Given the description of an element on the screen output the (x, y) to click on. 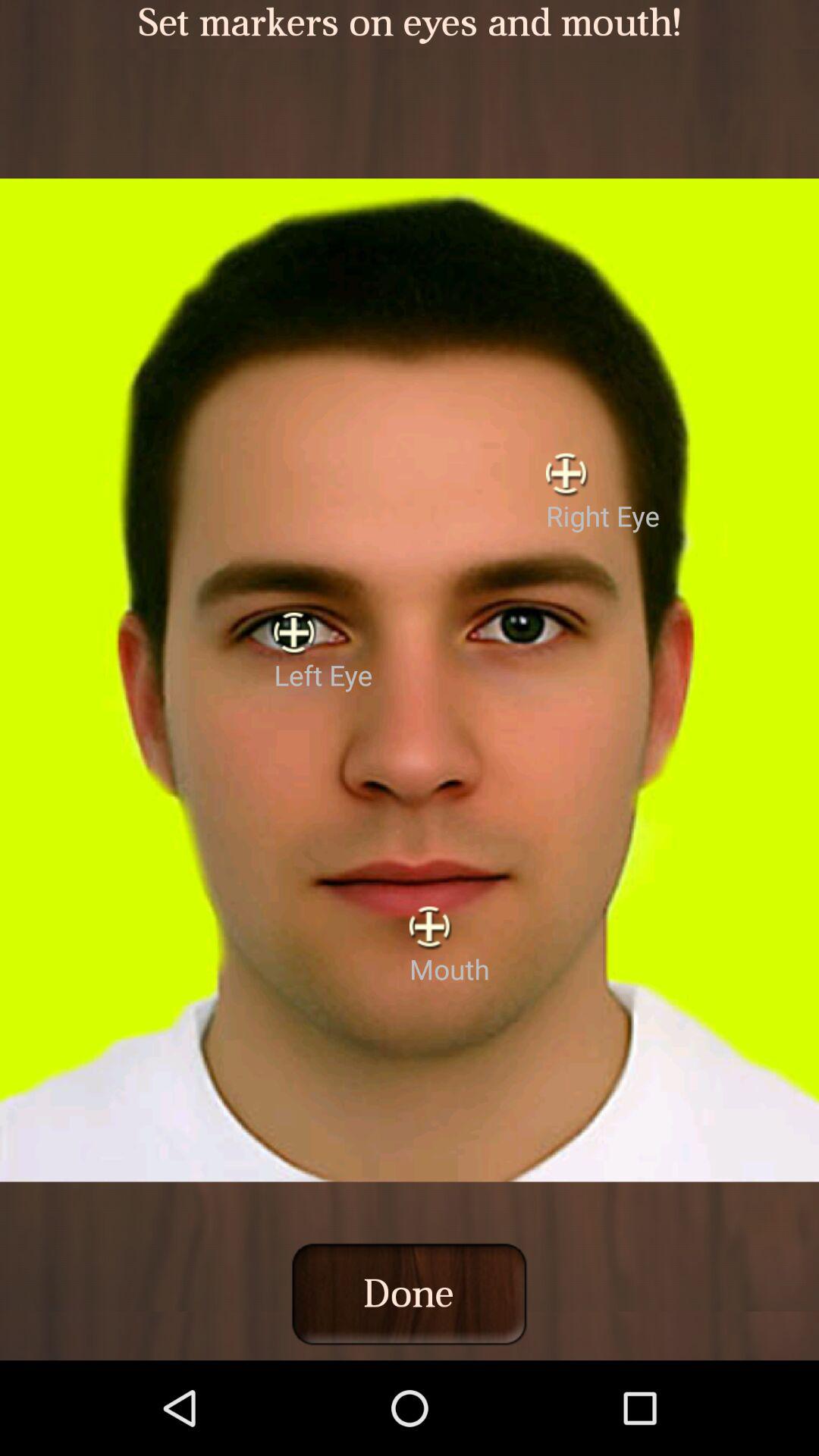
swipe until done button (409, 1293)
